Given the description of an element on the screen output the (x, y) to click on. 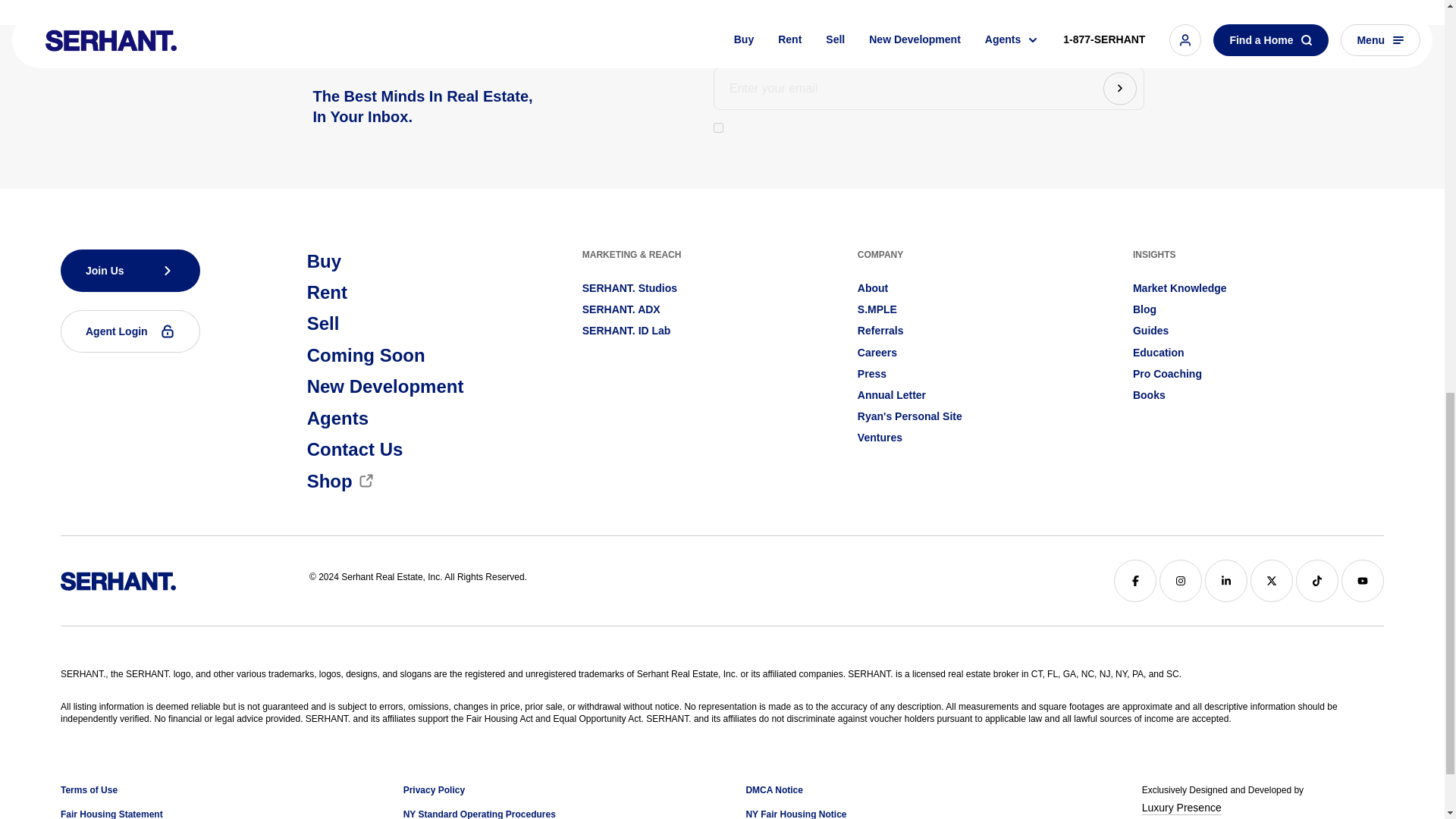
on (718, 127)
Sell It Pro Coaching (1167, 373)
SERHANT. S.MPLE (876, 309)
